Given the description of an element on the screen output the (x, y) to click on. 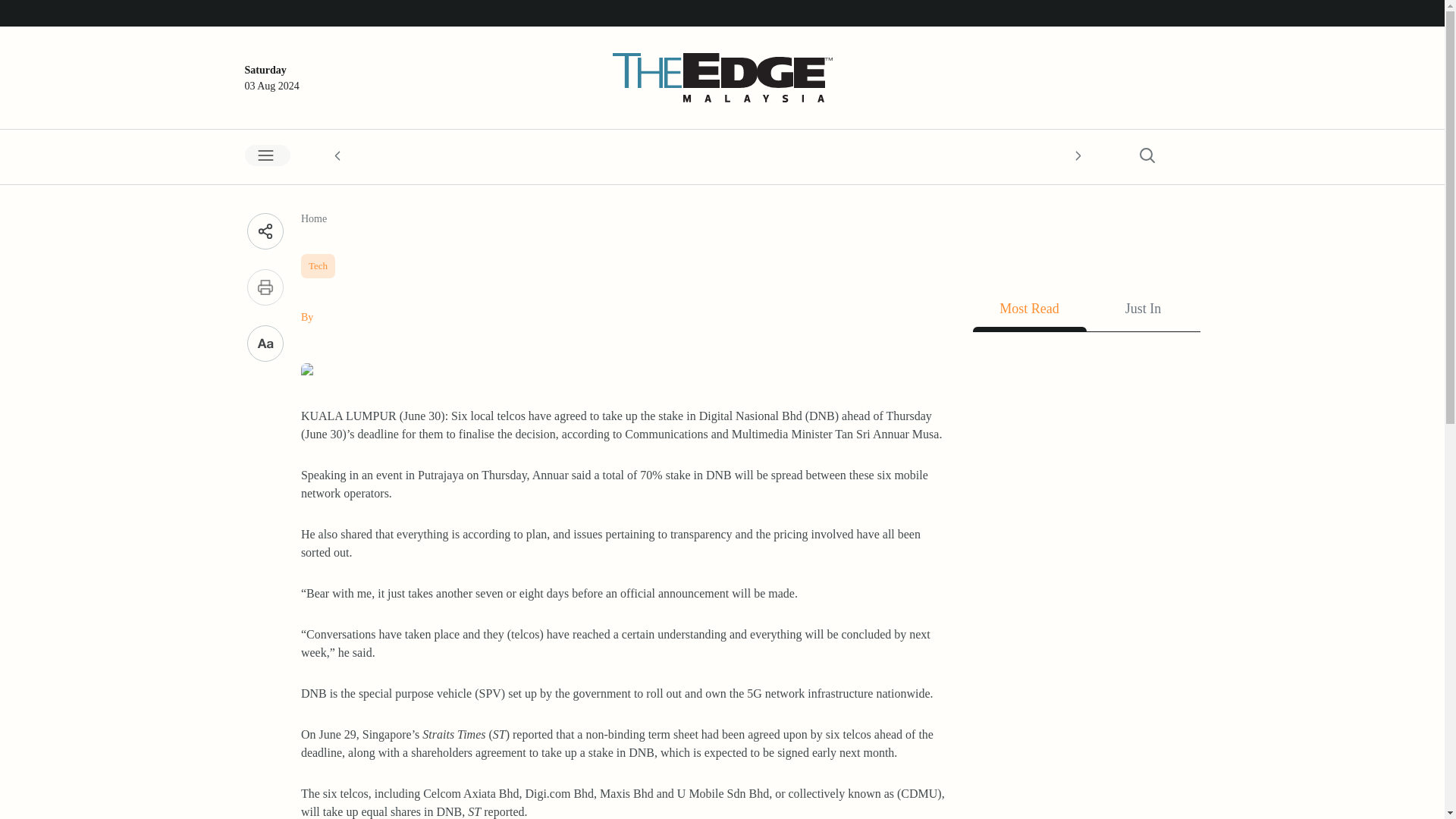
Tech (317, 262)
Home (313, 218)
Most Read (1029, 312)
Just In (1142, 312)
